Given the description of an element on the screen output the (x, y) to click on. 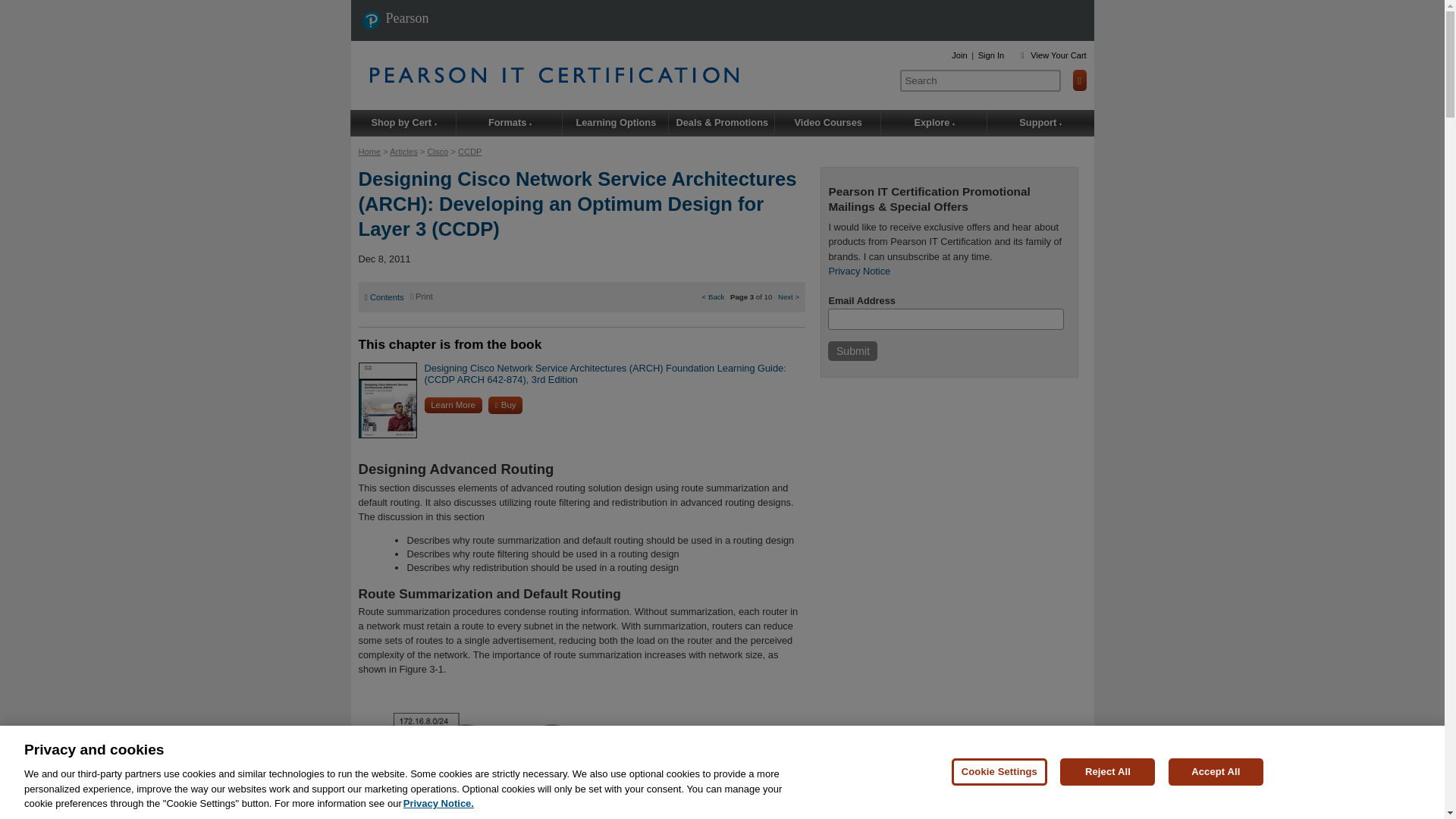
Home (629, 74)
Learn More (453, 405)
CCDP (469, 151)
Submit (852, 351)
Print (421, 296)
Home (369, 151)
Cisco (437, 151)
Figure 3-1 (399, 818)
Articles (403, 151)
Figure 3-1 (421, 668)
